Given the description of an element on the screen output the (x, y) to click on. 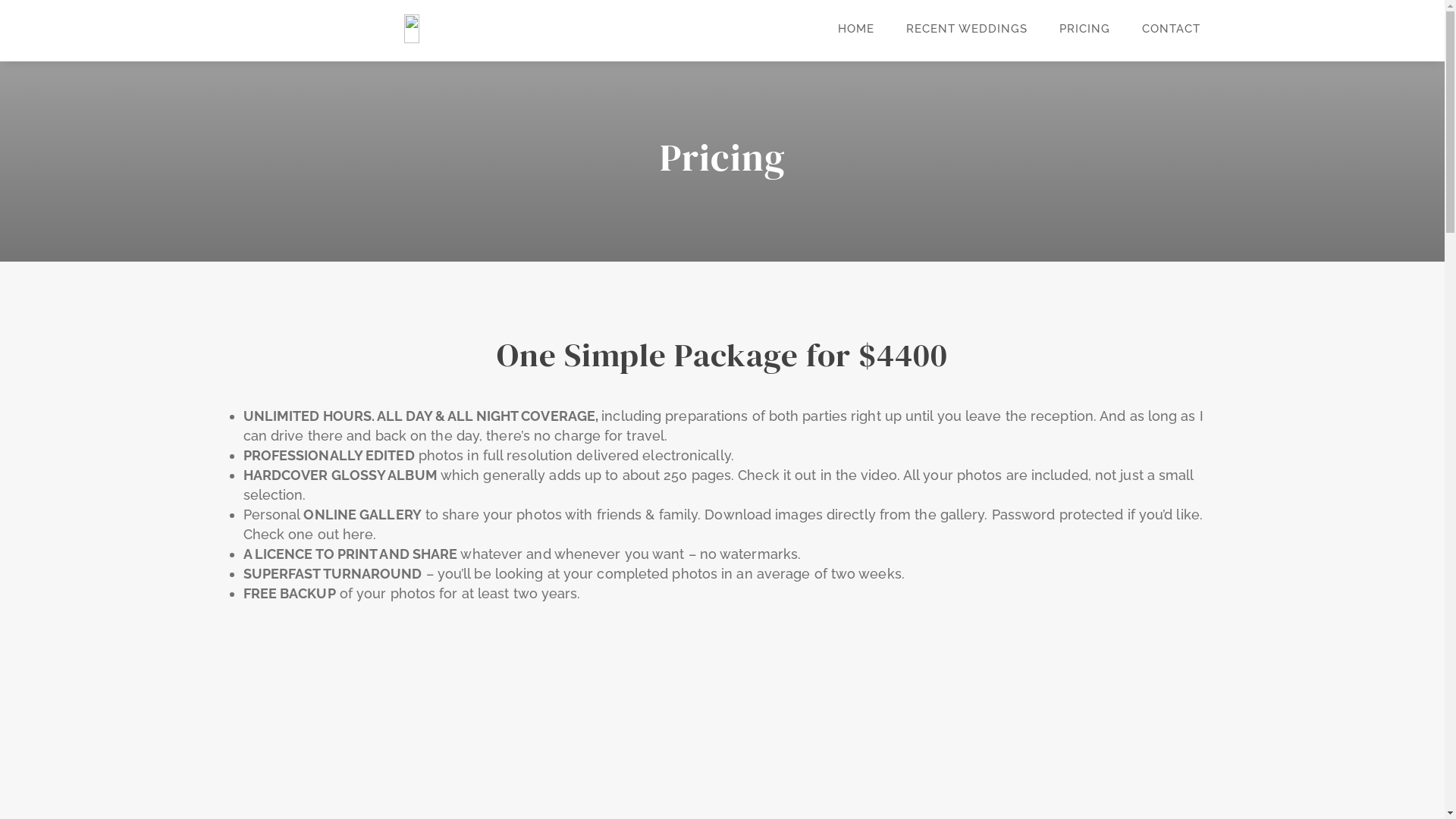
CONTACT Element type: text (1171, 28)
HOME Element type: text (855, 28)
RECENT WEDDINGS Element type: text (965, 28)
PRICING Element type: text (1083, 28)
